Given the description of an element on the screen output the (x, y) to click on. 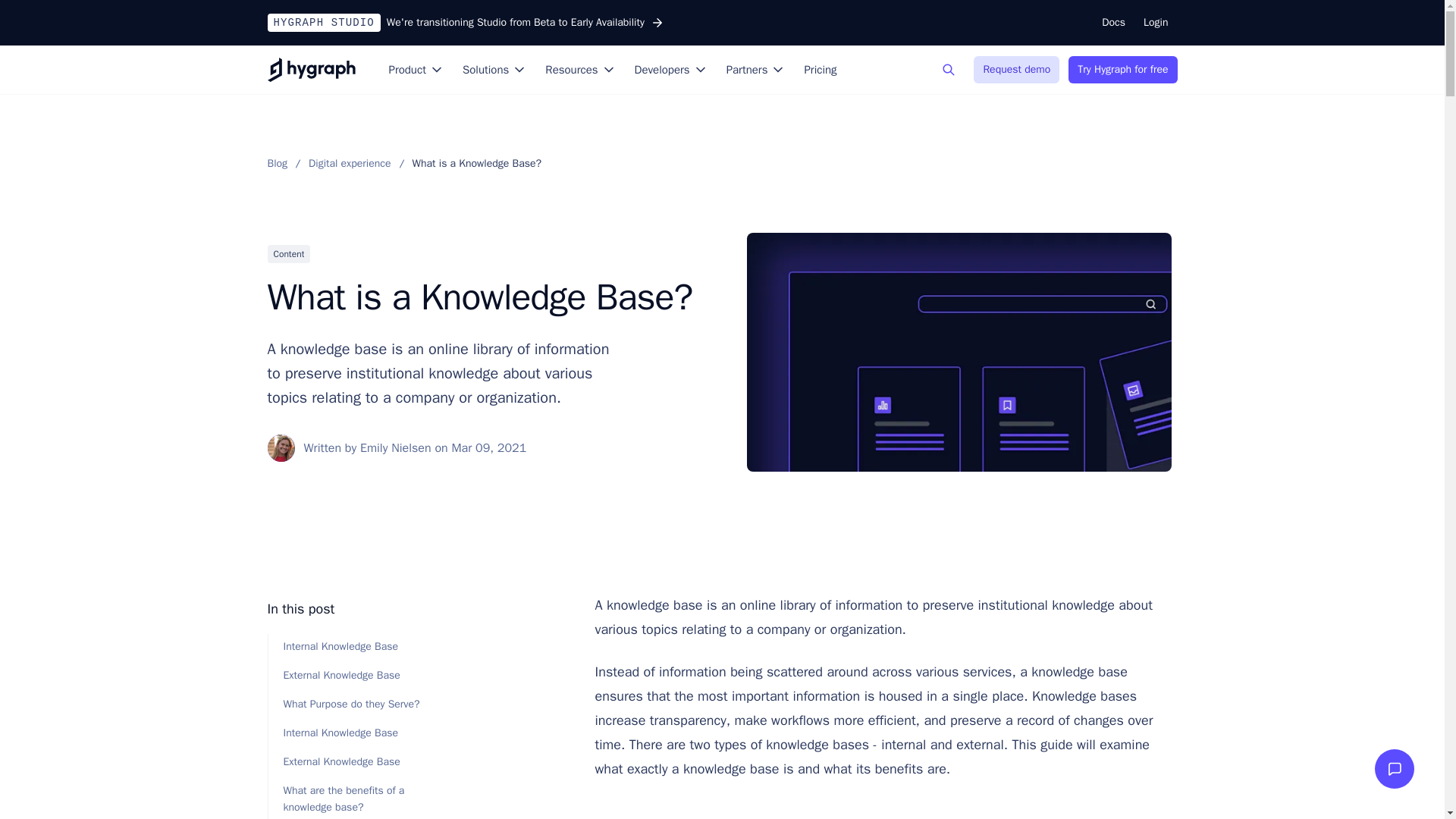
Login (1155, 22)
Docs (1113, 22)
Resources (579, 69)
Product (415, 69)
Hygraph (310, 69)
Solutions (493, 69)
